Given the description of an element on the screen output the (x, y) to click on. 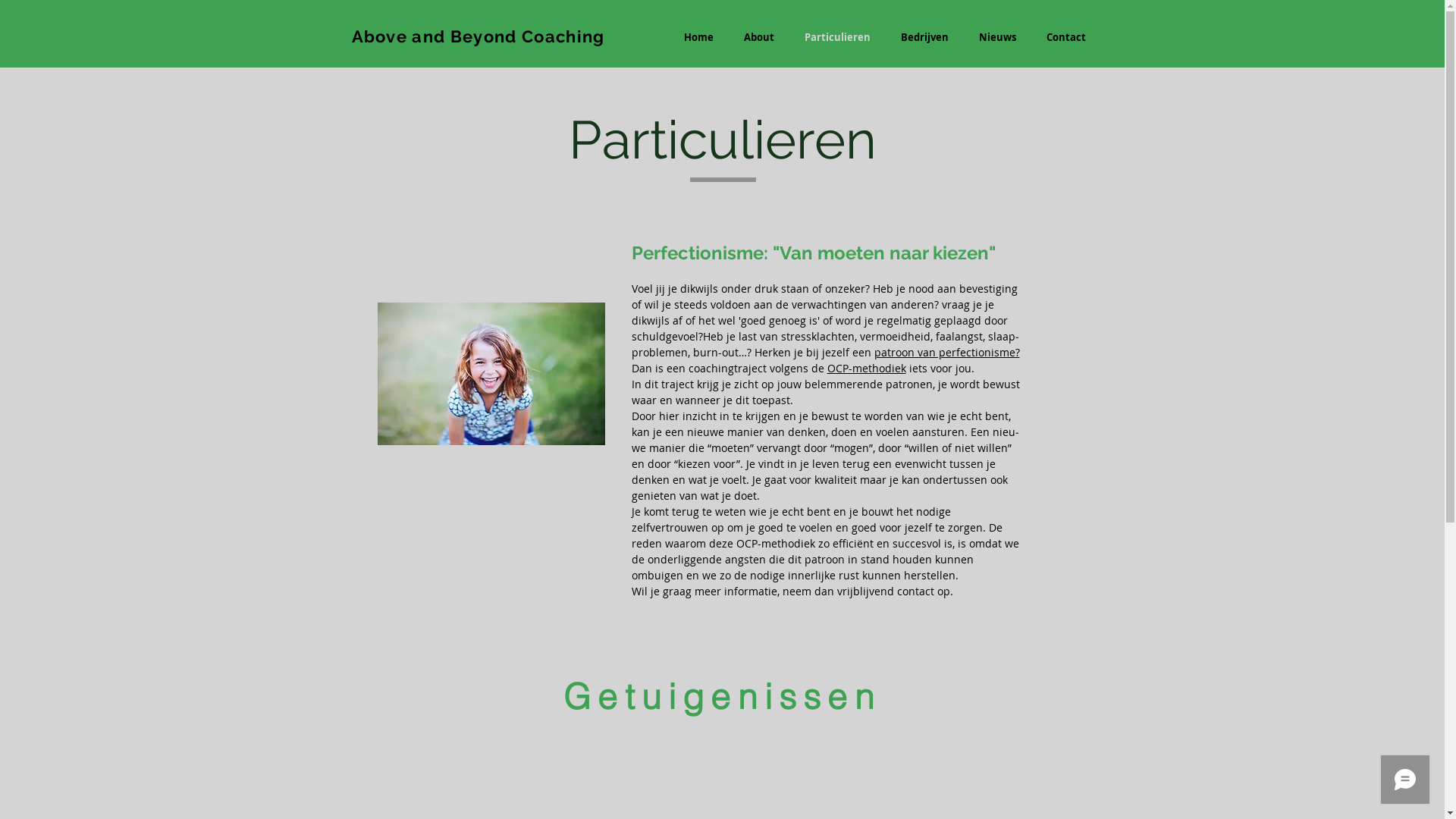
Contact Element type: text (1066, 37)
Bedrijven Element type: text (924, 37)
Particulieren Element type: text (836, 37)
Nieuws Element type: text (996, 37)
About Element type: text (758, 37)
Home Element type: text (698, 37)
Above and Beyond Coaching Element type: text (478, 36)
